Given the description of an element on the screen output the (x, y) to click on. 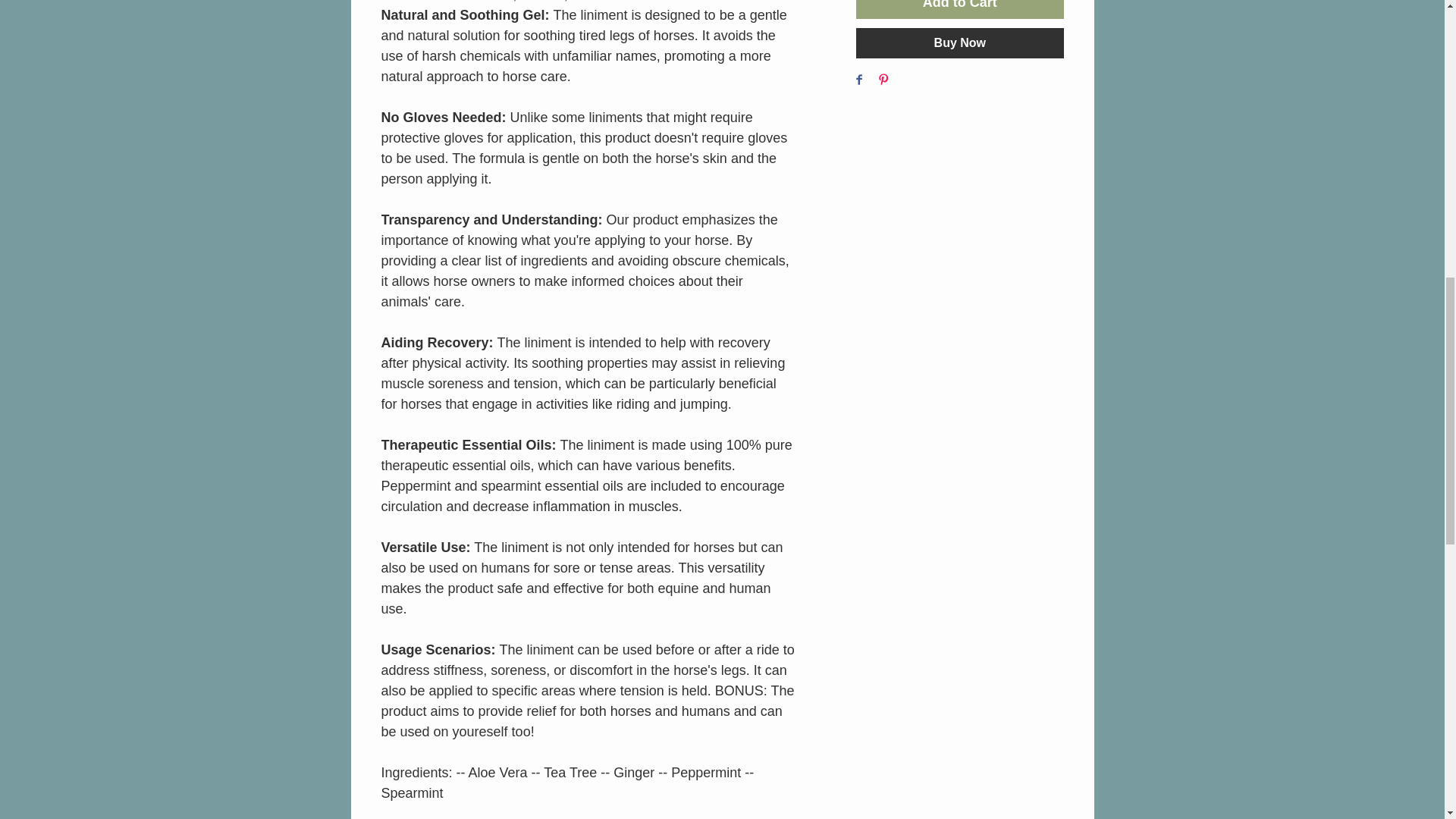
Buy Now (959, 42)
Add to Cart (959, 9)
